Given the description of an element on the screen output the (x, y) to click on. 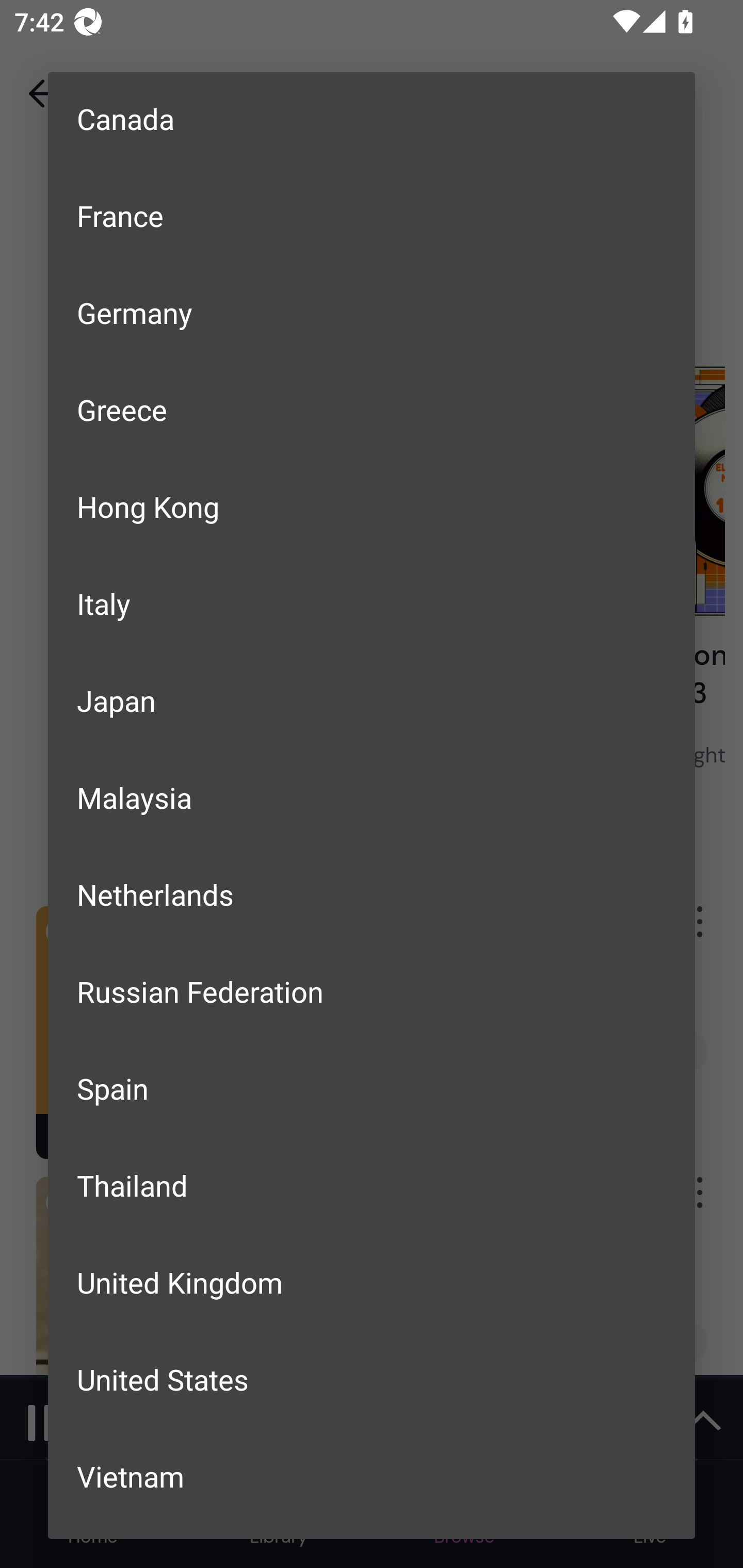
Canada (371, 119)
France (371, 215)
Germany (371, 311)
Greece (371, 408)
Hong Kong (371, 506)
Italy (371, 603)
Japan (371, 700)
Malaysia (371, 797)
Netherlands (371, 893)
Russian Federation (371, 990)
Spain (371, 1087)
Thailand (371, 1185)
United Kingdom (371, 1282)
United States (371, 1379)
Vietnam (371, 1476)
